Given the description of an element on the screen output the (x, y) to click on. 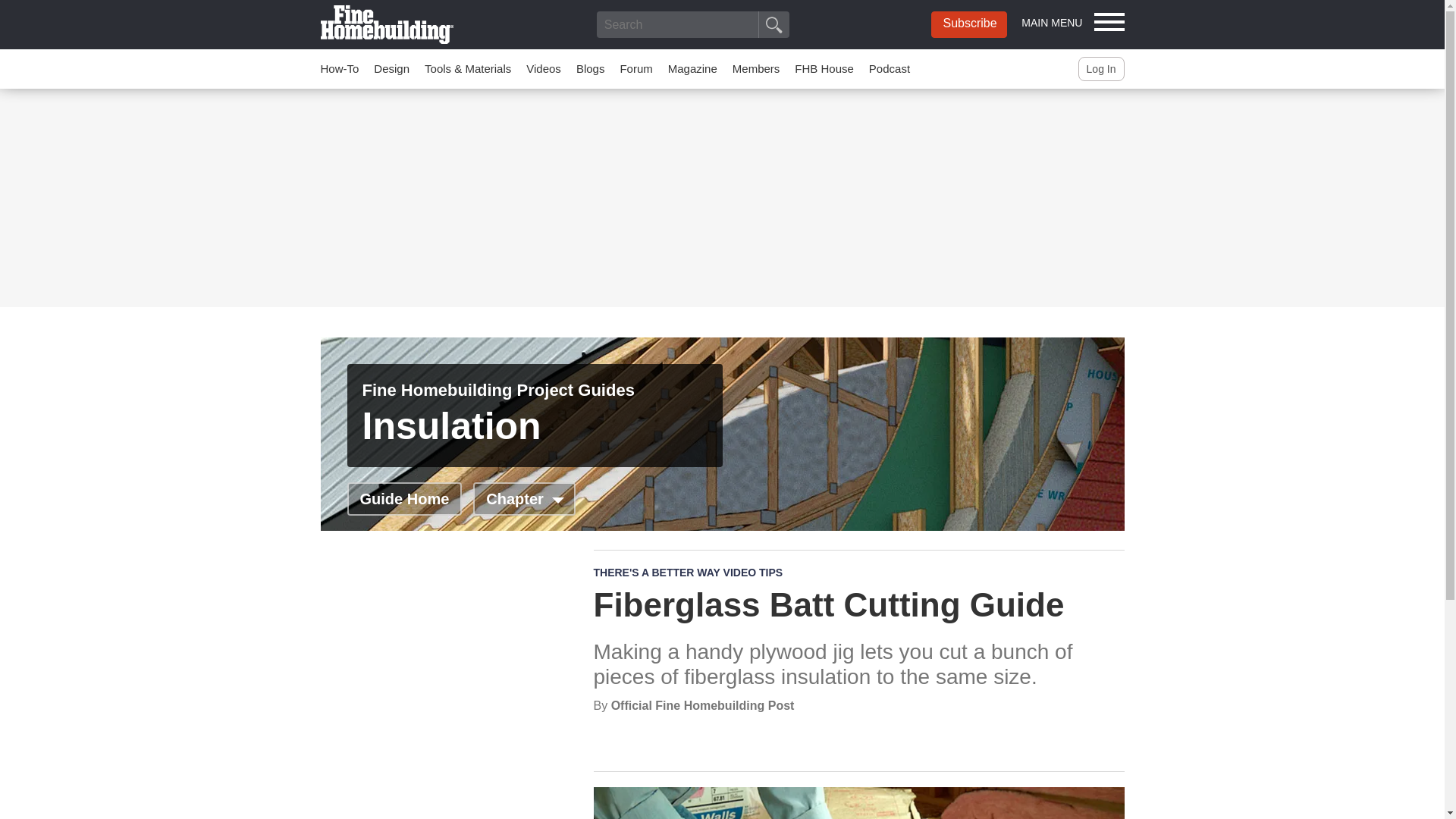
Official Fine Homebuilding Post (702, 705)
Chapter (524, 498)
Toggle Chapter Menu (524, 498)
Podcast (889, 68)
How-To (339, 68)
Guide Home (405, 498)
Design (391, 68)
FHB House (823, 68)
Subscribe (969, 24)
Members (756, 68)
Blogs (590, 68)
Videos (542, 68)
THERE'S A BETTER WAY VIDEO TIPS (687, 572)
Forum (636, 68)
Magazine (692, 68)
